Given the description of an element on the screen output the (x, y) to click on. 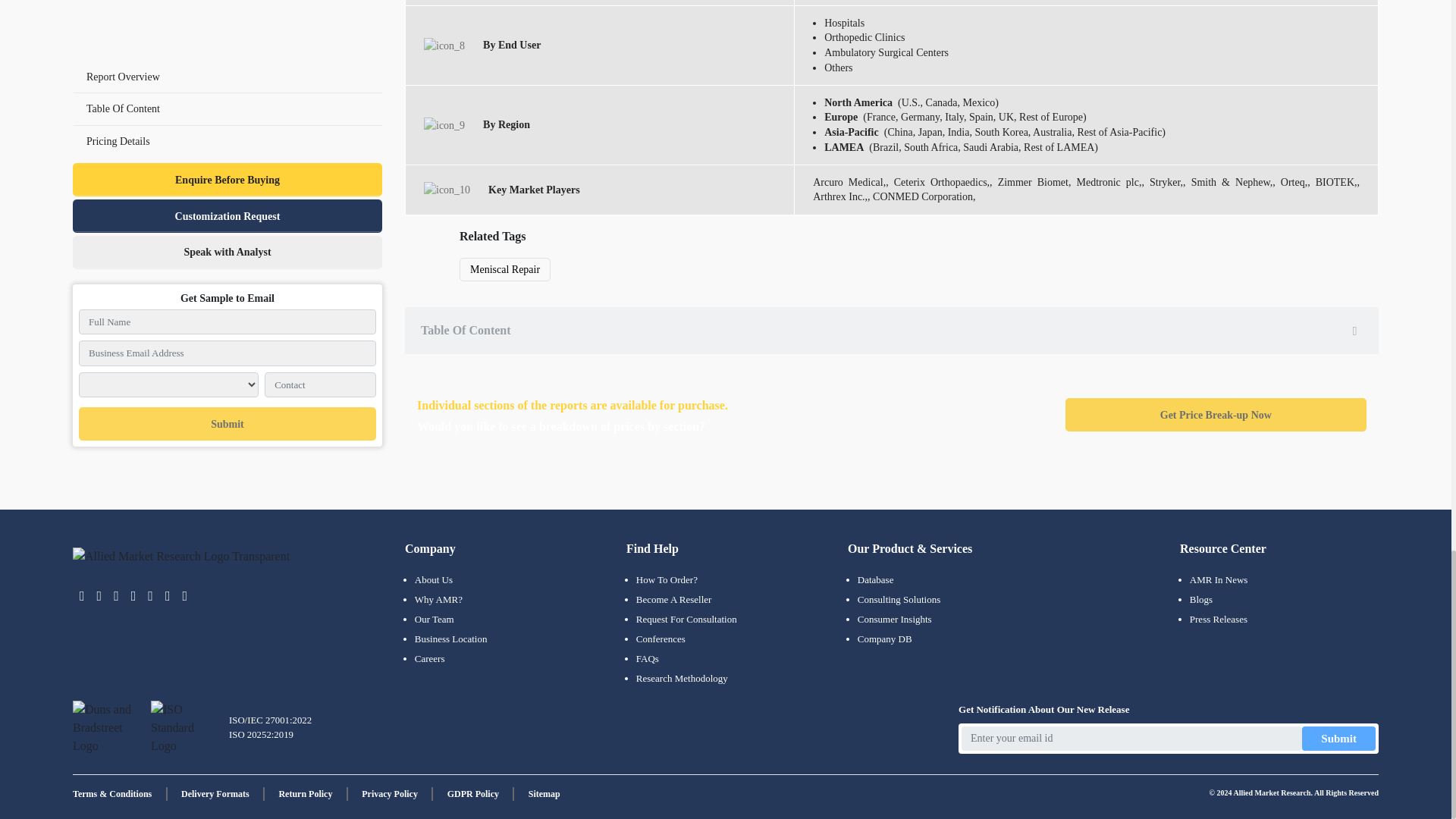
Meniscal Repair Systems Market By End User (443, 45)
Table Of Content (891, 330)
Meniscal Repair (505, 269)
Meniscal Repair Systems Market By Region (443, 125)
Key Market Players (446, 189)
Allied Market Research Footer Logo (180, 556)
Get Price Break-up Now (1216, 414)
